Given the description of an element on the screen output the (x, y) to click on. 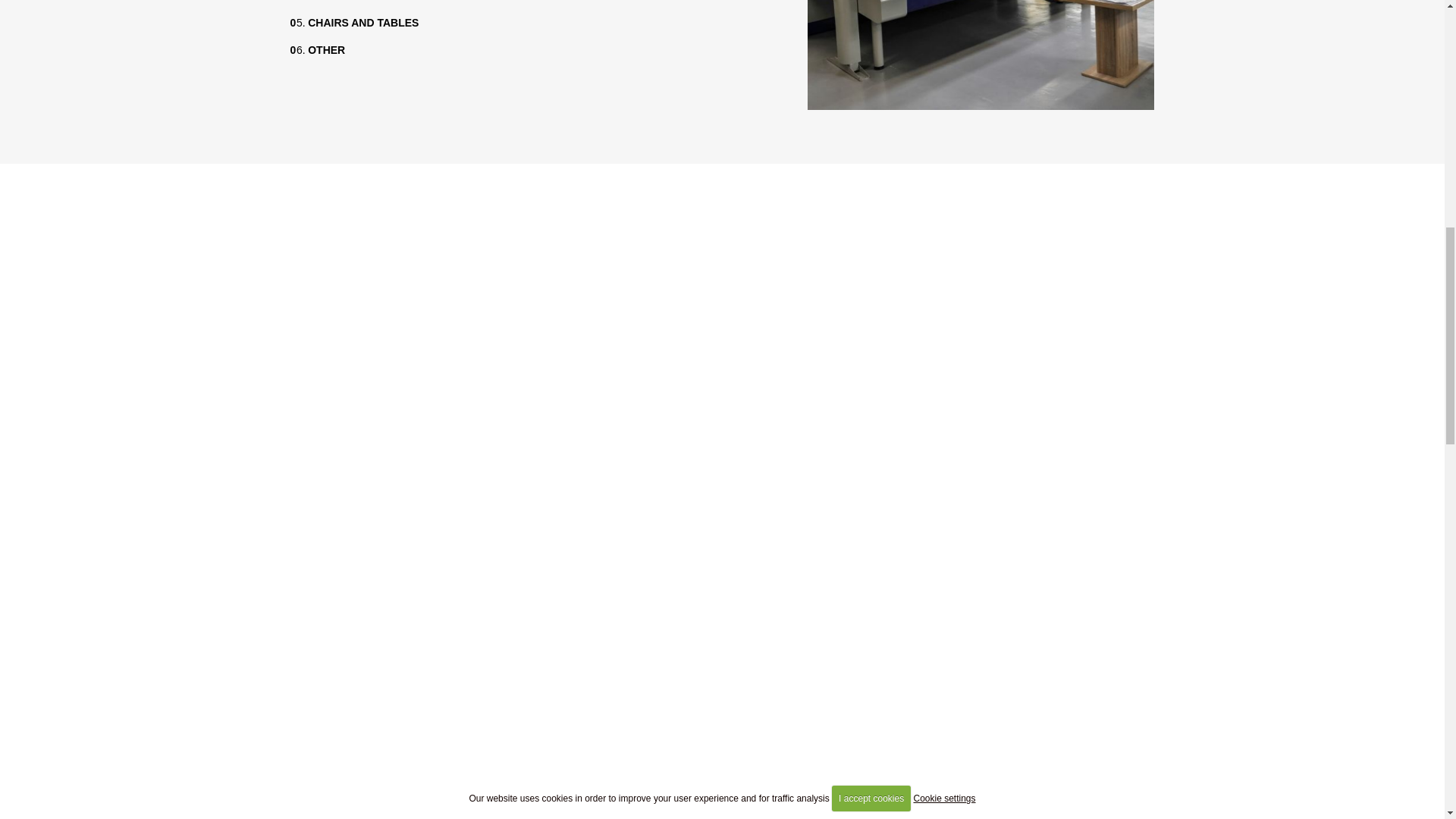
OTHER (326, 50)
CHAIRS AND TABLES (363, 22)
ANGLE BENCHES (352, 0)
